Given the description of an element on the screen output the (x, y) to click on. 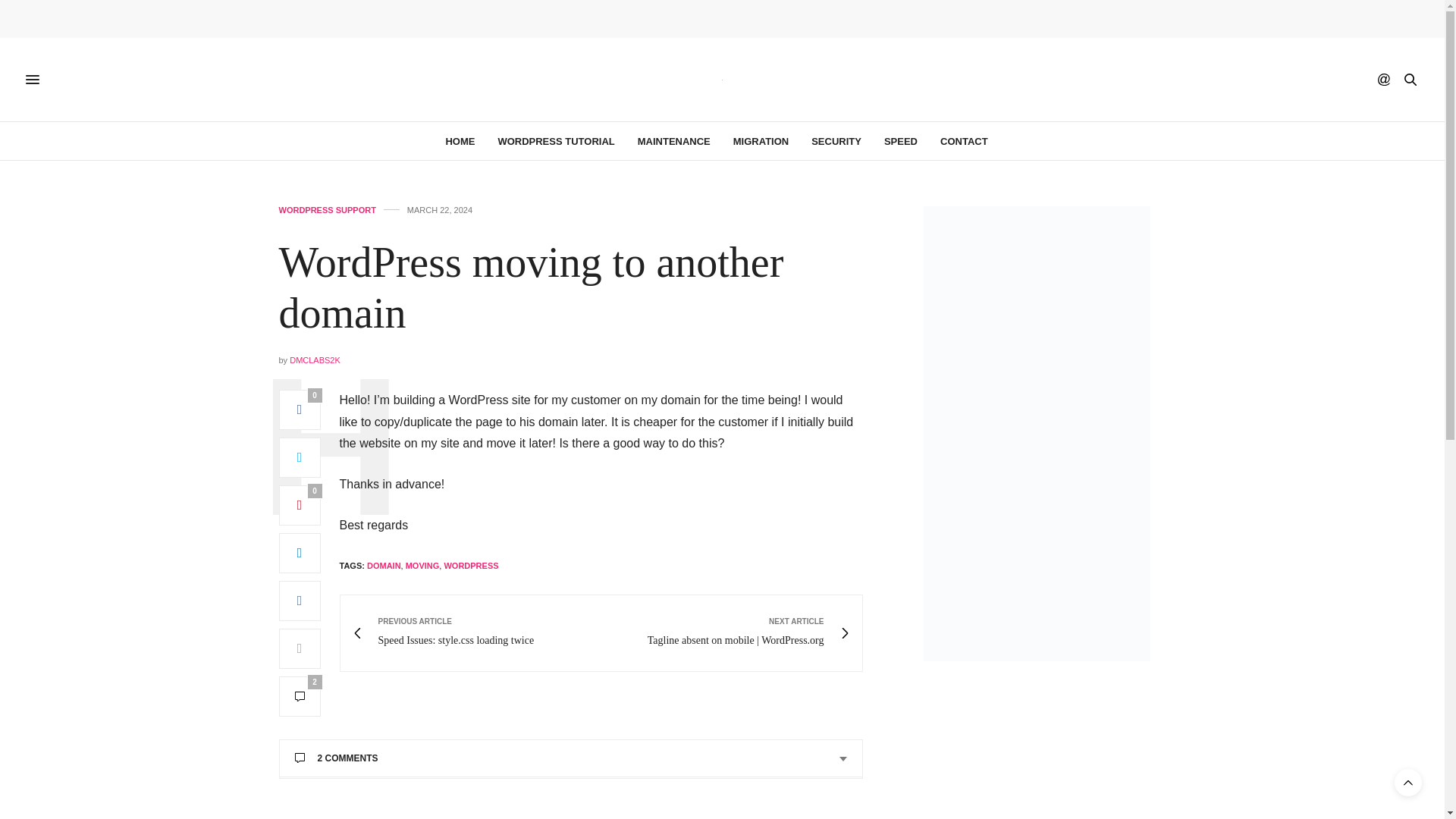
DOMAIN (383, 565)
0 (299, 409)
WORDPRESS (470, 565)
CONTACT (964, 140)
WORDPRESS SUPPORT (327, 210)
Scroll To Top (475, 633)
Posts by DMCLabs2k (1408, 782)
MIGRATION (314, 359)
